Given the description of an element on the screen output the (x, y) to click on. 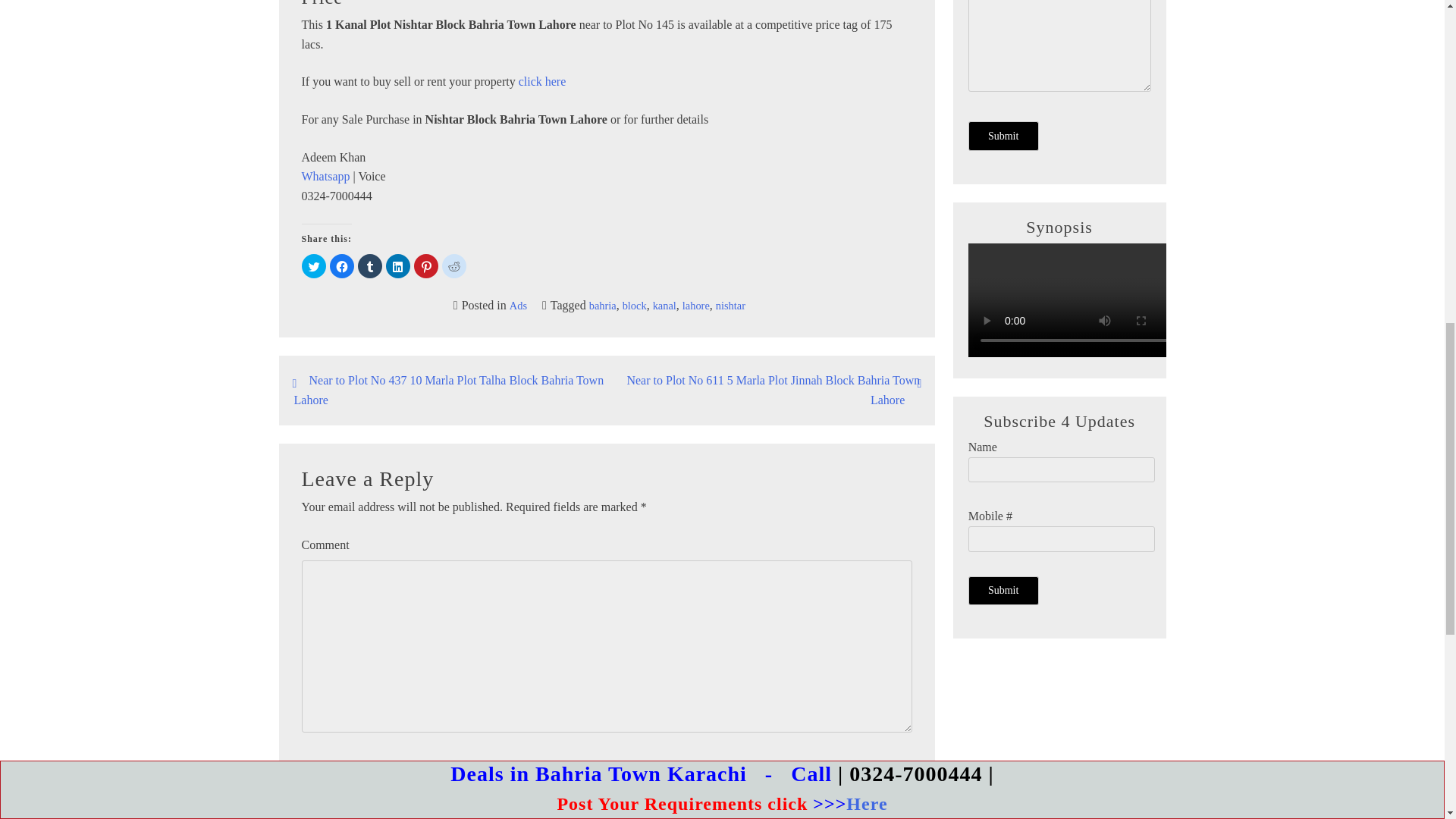
Click to share on Tumblr (369, 265)
Submit (1003, 135)
lahore (696, 305)
nishtar (730, 305)
Submit (1003, 135)
Click to share on Pinterest (425, 265)
click here (542, 81)
Submit (1003, 590)
Whatsapp (325, 175)
Submit (1003, 590)
Click to share on Twitter (313, 265)
Click to share on LinkedIn (397, 265)
bahria (602, 305)
Click to share on Facebook (341, 265)
